Given the description of an element on the screen output the (x, y) to click on. 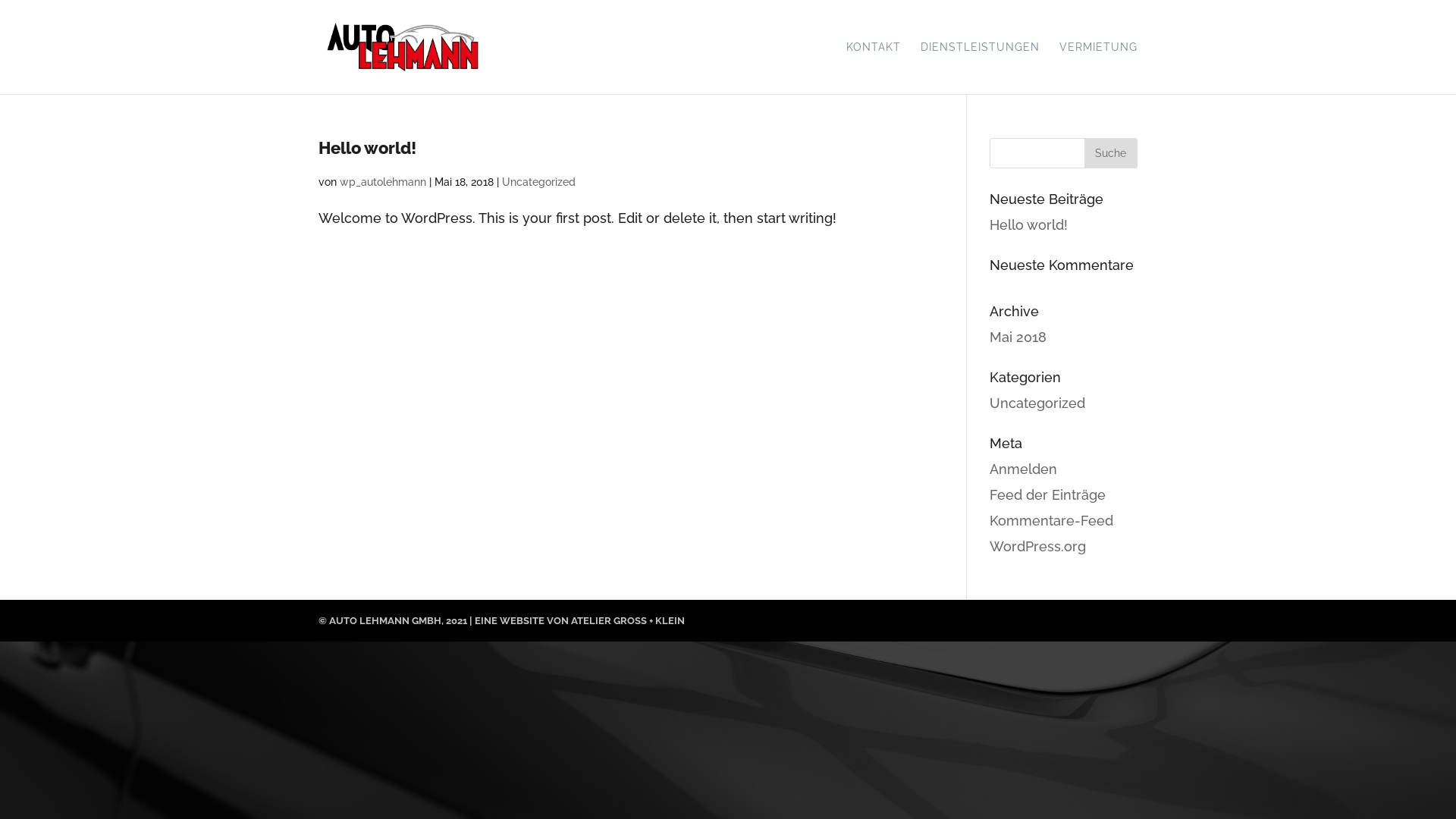
VERMIETUNG Element type: text (1098, 67)
DIENSTLEISTUNGEN Element type: text (979, 67)
Kommentare-Feed Element type: text (1051, 520)
Hello world! Element type: text (1028, 224)
Anmelden Element type: text (1023, 468)
Uncategorized Element type: text (538, 181)
Uncategorized Element type: text (1037, 403)
EINE WEBSITE VON ATELIER GROSS + KLEIN Element type: text (579, 620)
Mai 2018 Element type: text (1017, 337)
Suche Element type: text (1110, 153)
wp_autolehmann Element type: text (382, 181)
KONTAKT Element type: text (873, 67)
WordPress.org Element type: text (1037, 546)
Hello world! Element type: text (367, 147)
